Given the description of an element on the screen output the (x, y) to click on. 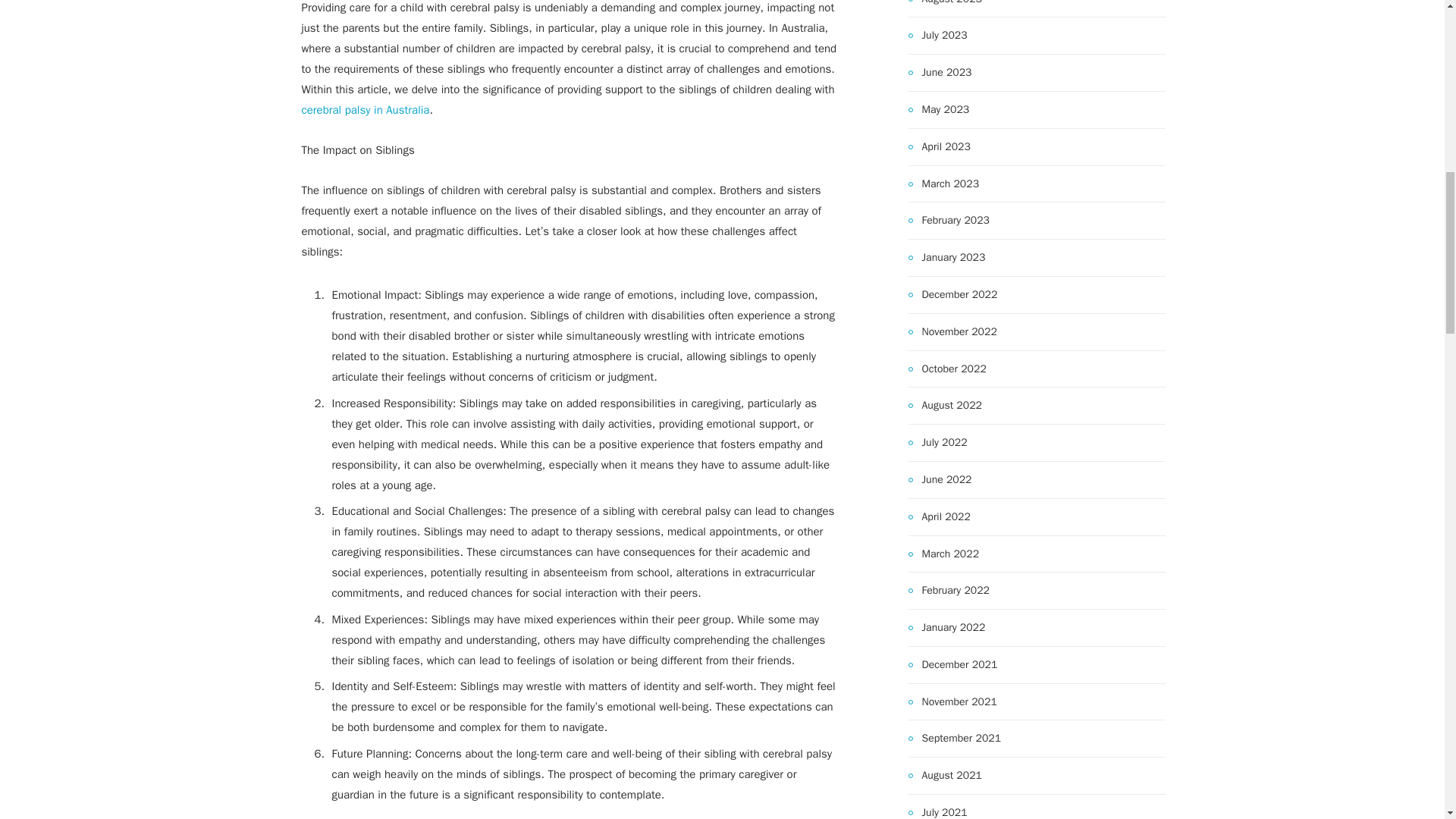
cerebral palsy in Australia (365, 110)
